Given the description of an element on the screen output the (x, y) to click on. 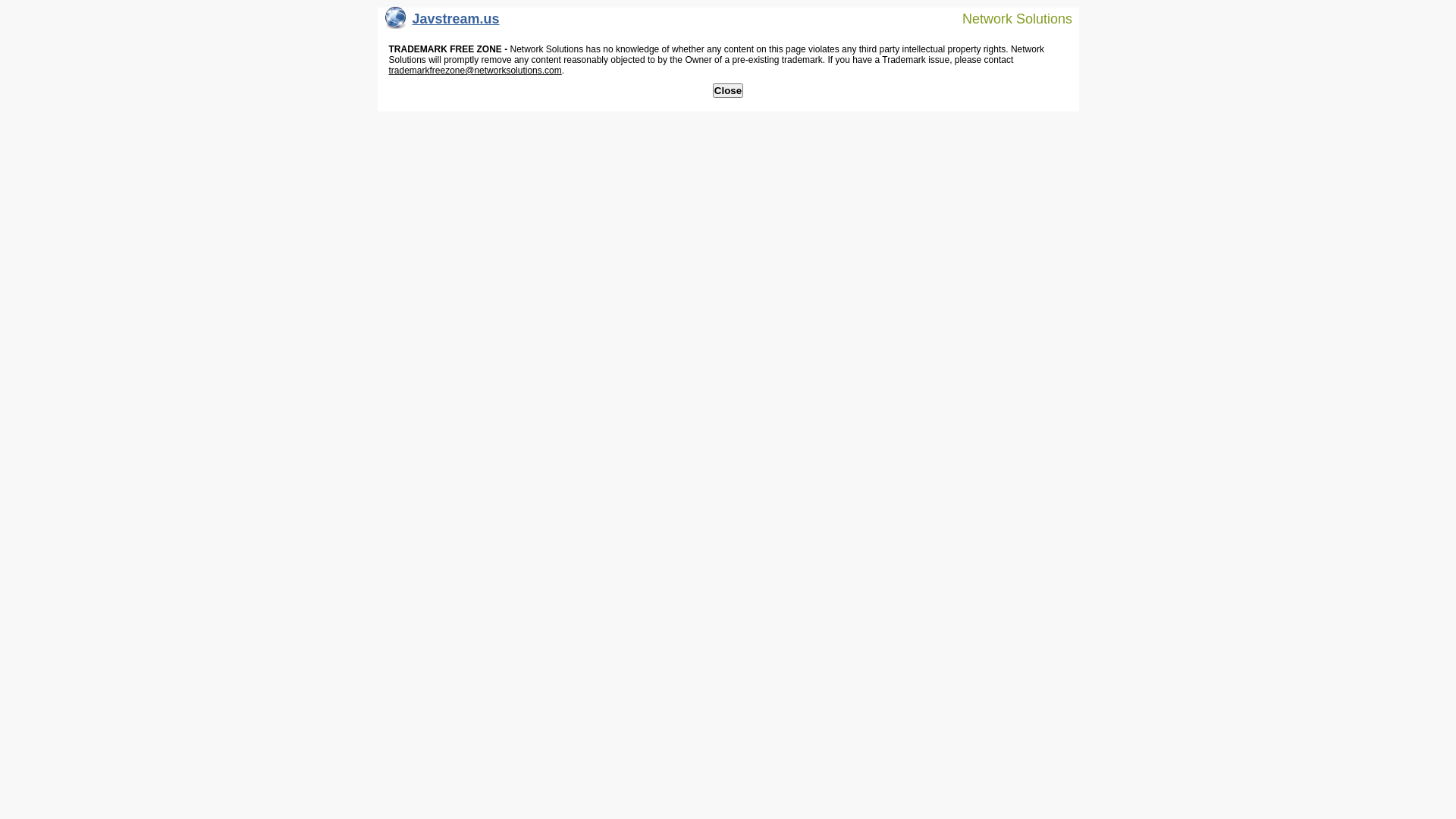
Javstream.us Element type: text (442, 21)
trademarkfreezone@networksolutions.com Element type: text (474, 70)
Network Solutions Element type: text (1007, 17)
Close Element type: text (727, 90)
